Given the description of an element on the screen output the (x, y) to click on. 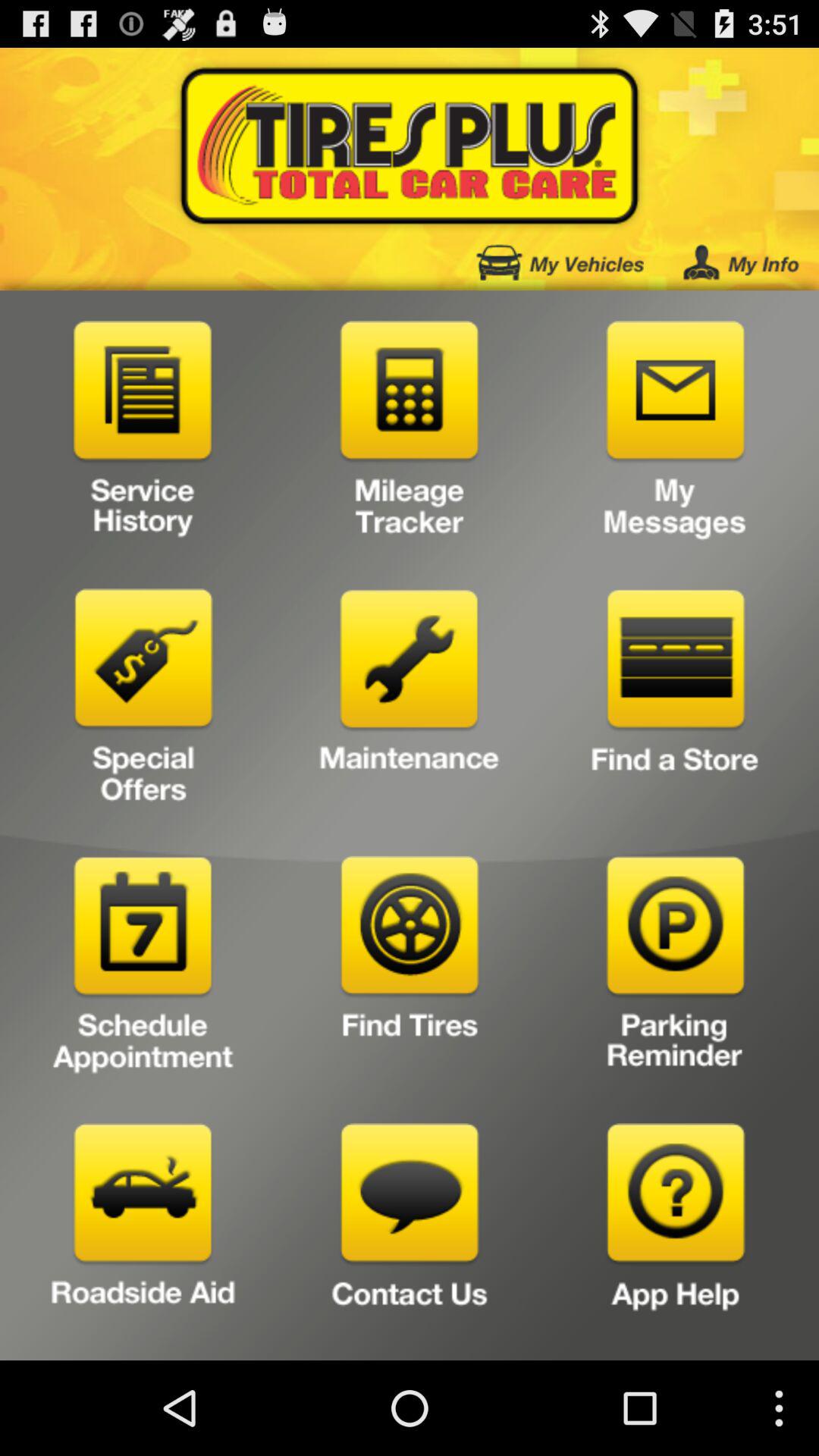
enter mileage tracker (409, 434)
